Given the description of an element on the screen output the (x, y) to click on. 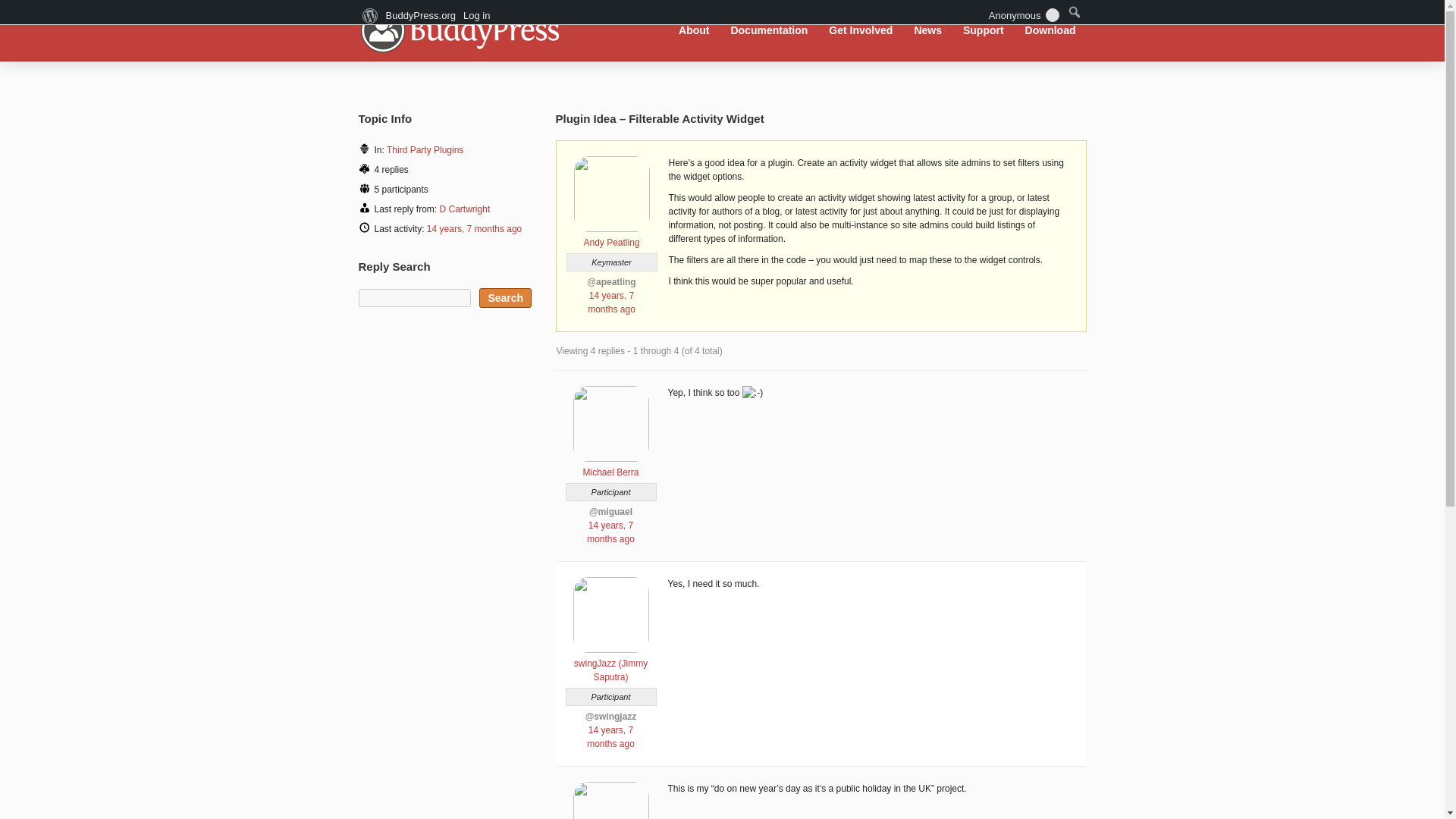
14 years, 7 months ago (473, 228)
14 years, 7 months ago (610, 532)
Documentation (768, 29)
Download (1050, 29)
Michael Berra (609, 466)
14 years, 7 months ago (611, 302)
Third Party Plugins (425, 149)
BuddyPress.org (458, 29)
Support (983, 29)
14 years, 7 months ago (610, 736)
Get Involved (861, 29)
Search (505, 297)
News (927, 29)
Andy Peatling (611, 236)
Search (505, 297)
